Given the description of an element on the screen output the (x, y) to click on. 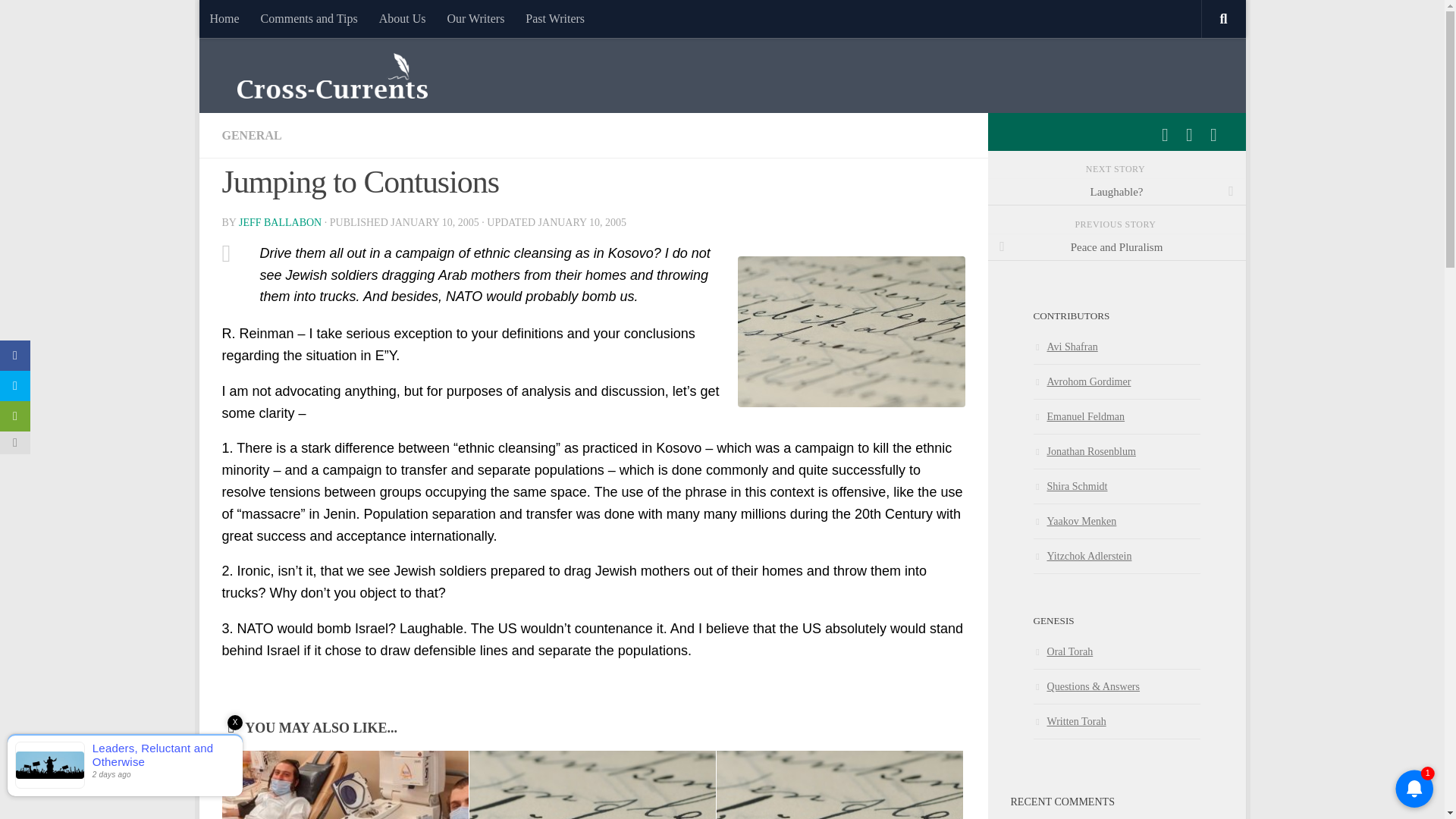
Home (223, 18)
Yaakov Menken (1074, 521)
Our Writers (475, 18)
Follow us on Twitter (1188, 135)
Avrohom Gordimer (1081, 381)
Skip to content (258, 20)
Posts by Jeff Ballabon (279, 222)
Follow us on Rss (1213, 135)
Emanuel Feldman (1078, 416)
GENERAL (251, 134)
Past Writers (555, 18)
JEFF BALLABON (279, 222)
Shira Schmidt (1069, 485)
Jonathan Rosenblum (1083, 451)
Comments and Tips (309, 18)
